Given the description of an element on the screen output the (x, y) to click on. 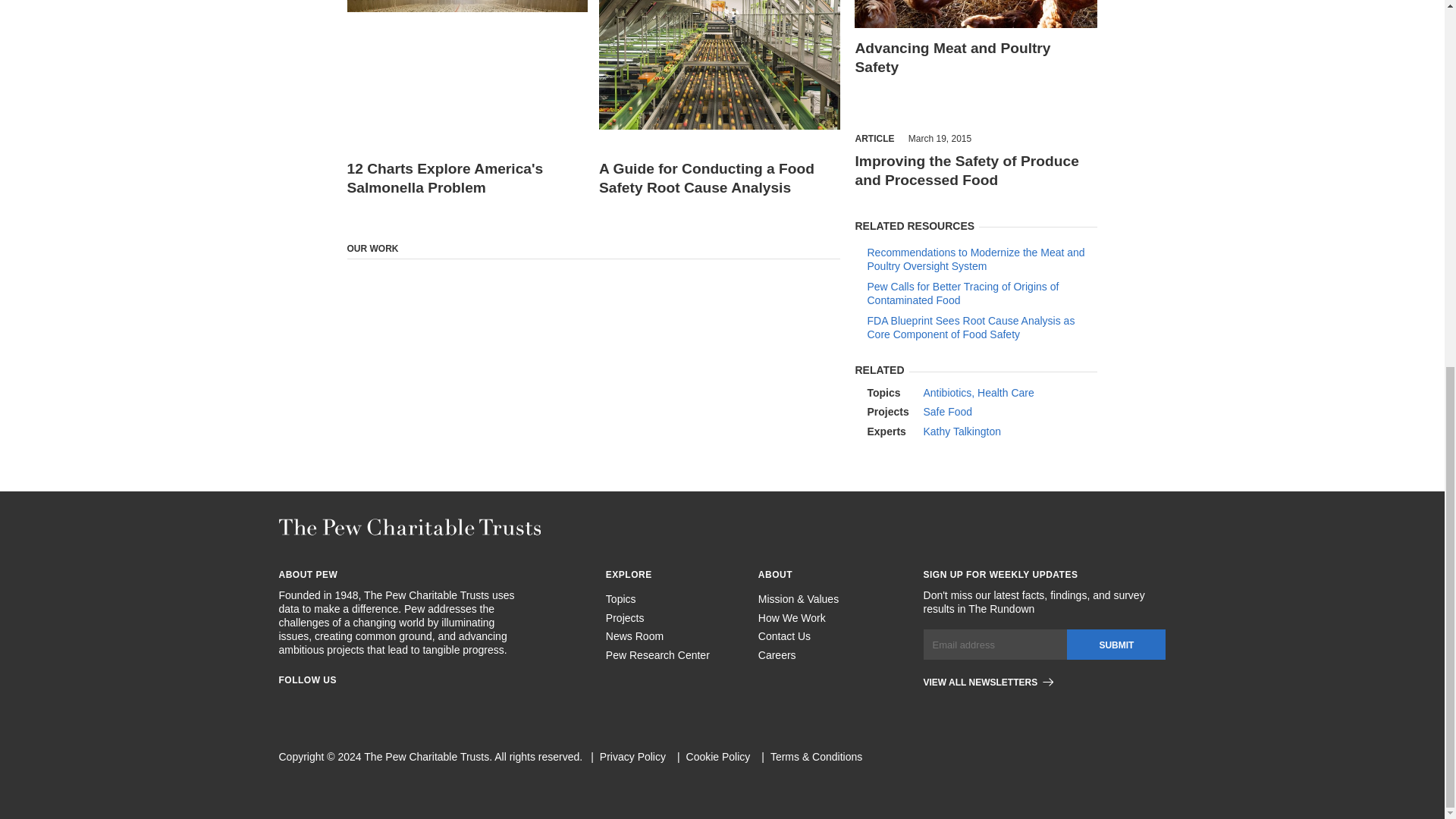
Instagram (312, 703)
Hens (975, 13)
RSS (394, 703)
YouTube (421, 703)
LinkedIn (340, 703)
Chicken farm (467, 64)
Facebook (285, 703)
Follow us on twitter  (367, 703)
Apple factory, sorting machine (719, 64)
